Given the description of an element on the screen output the (x, y) to click on. 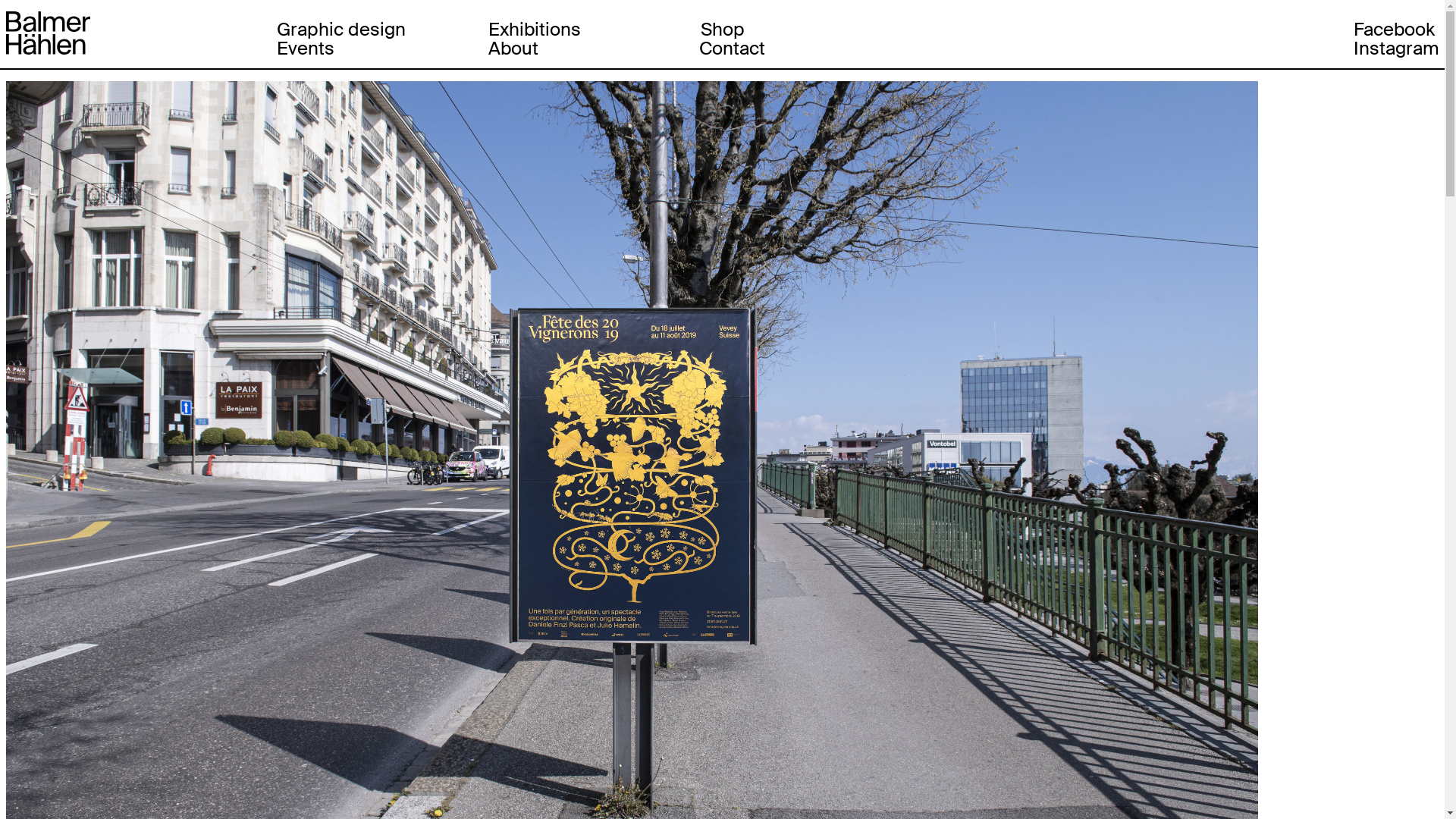
Instagram Element type: text (1395, 47)
Exhibitions Element type: text (534, 28)
About Element type: text (513, 47)
Contact Element type: text (732, 47)
Graphic design Element type: text (340, 28)
Events Element type: text (305, 47)
Shop Element type: text (722, 28)
Facebook Element type: text (1393, 28)
